Given the description of an element on the screen output the (x, y) to click on. 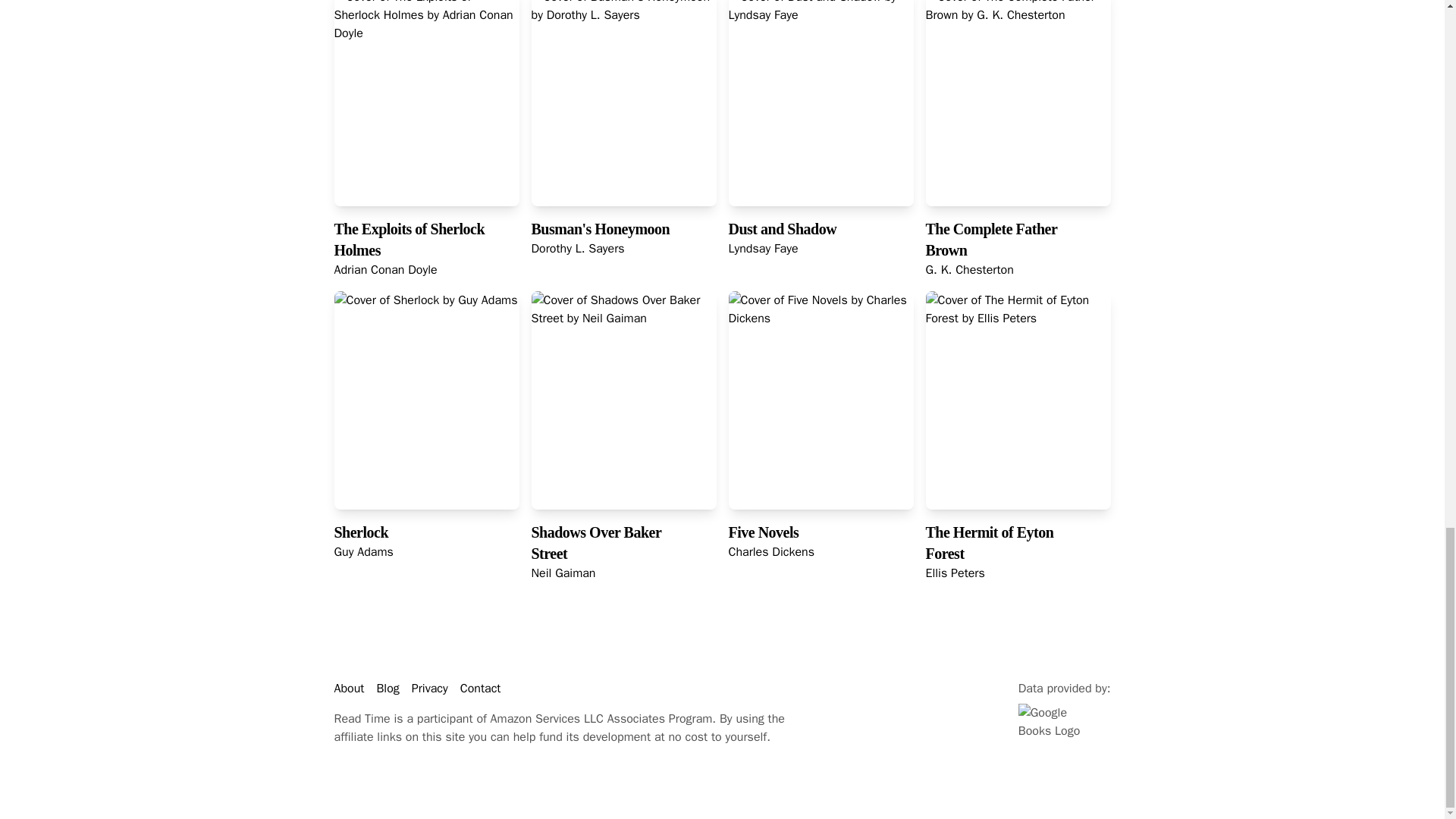
Neil Gaiman (563, 572)
Dorothy L. Sayers (577, 248)
Contact (480, 688)
Charles Dickens (770, 551)
G. K. Chesterton (968, 269)
The Complete Father Brown (990, 239)
About (348, 688)
The Exploits of Sherlock Holmes (408, 239)
Adrian Conan Doyle (384, 269)
Sherlock (360, 532)
